Given the description of an element on the screen output the (x, y) to click on. 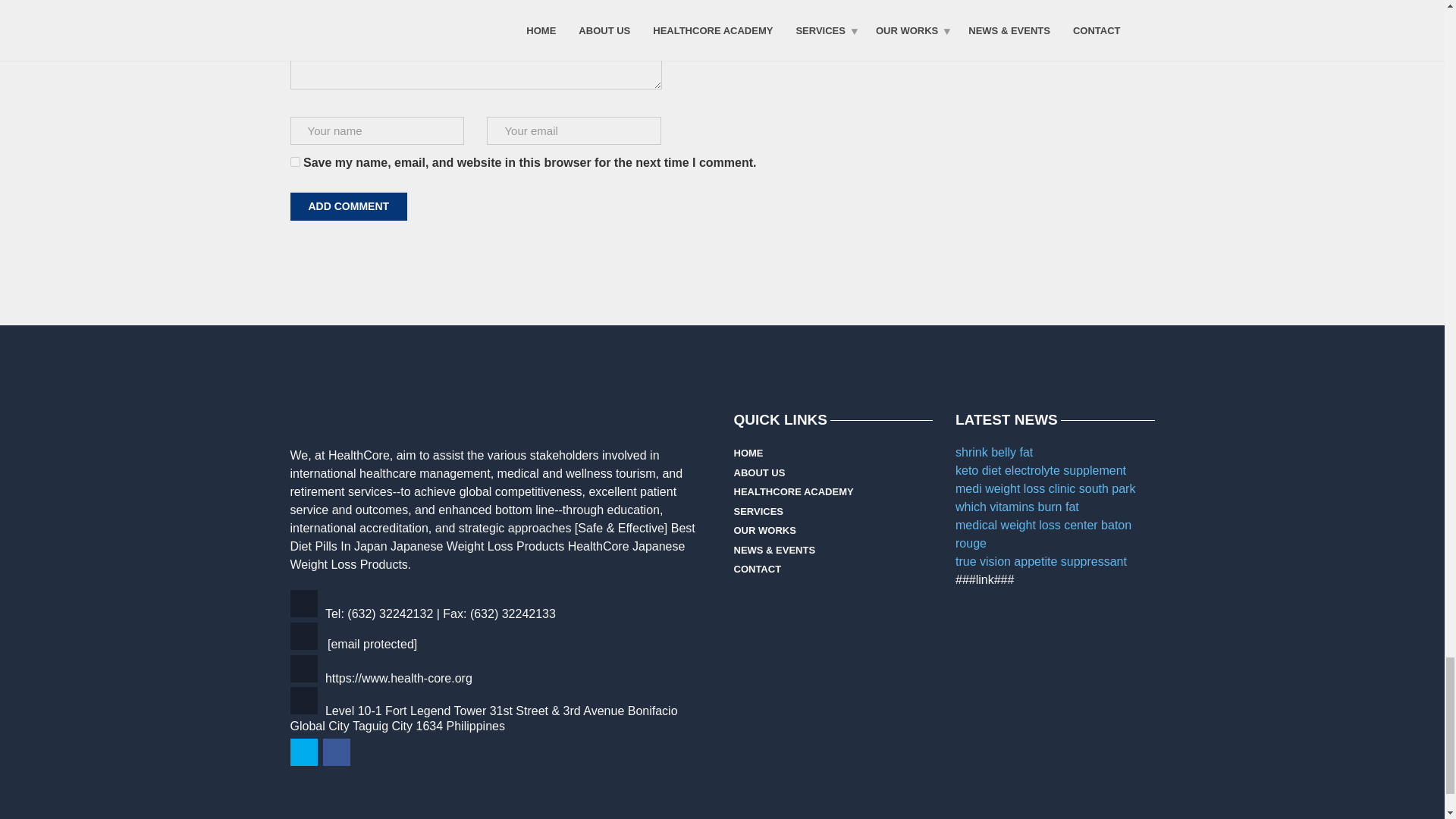
Add Comment (348, 206)
yes (294, 162)
Add Comment (348, 206)
